Given the description of an element on the screen output the (x, y) to click on. 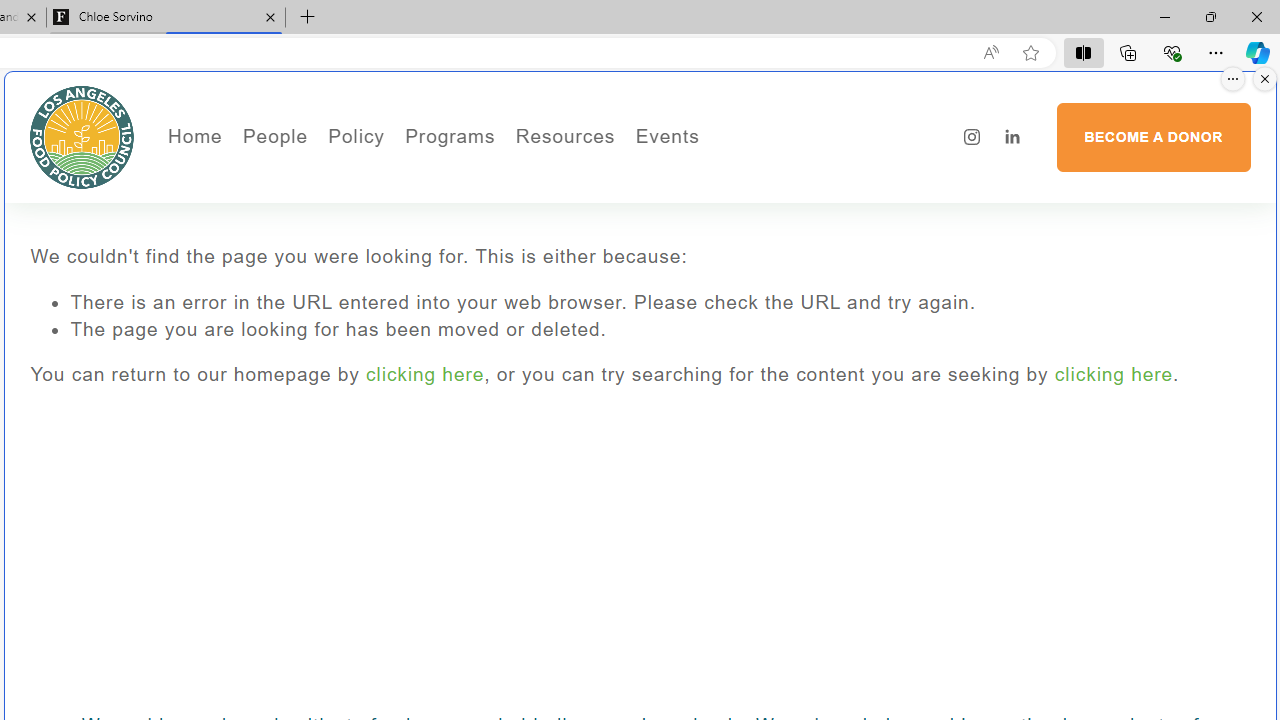
Farm Fresh LA (504, 205)
Healthy Markets LA (504, 176)
clicking here (1113, 374)
Los Angeles Food Policy Council (81, 136)
SoCal Impact Food Fund (643, 205)
People (341, 205)
More options. (1233, 79)
About (341, 176)
Los Angeles Food Policy Council (81, 136)
LinkedIn (1012, 137)
LA Foodscapes (734, 205)
